Given the description of an element on the screen output the (x, y) to click on. 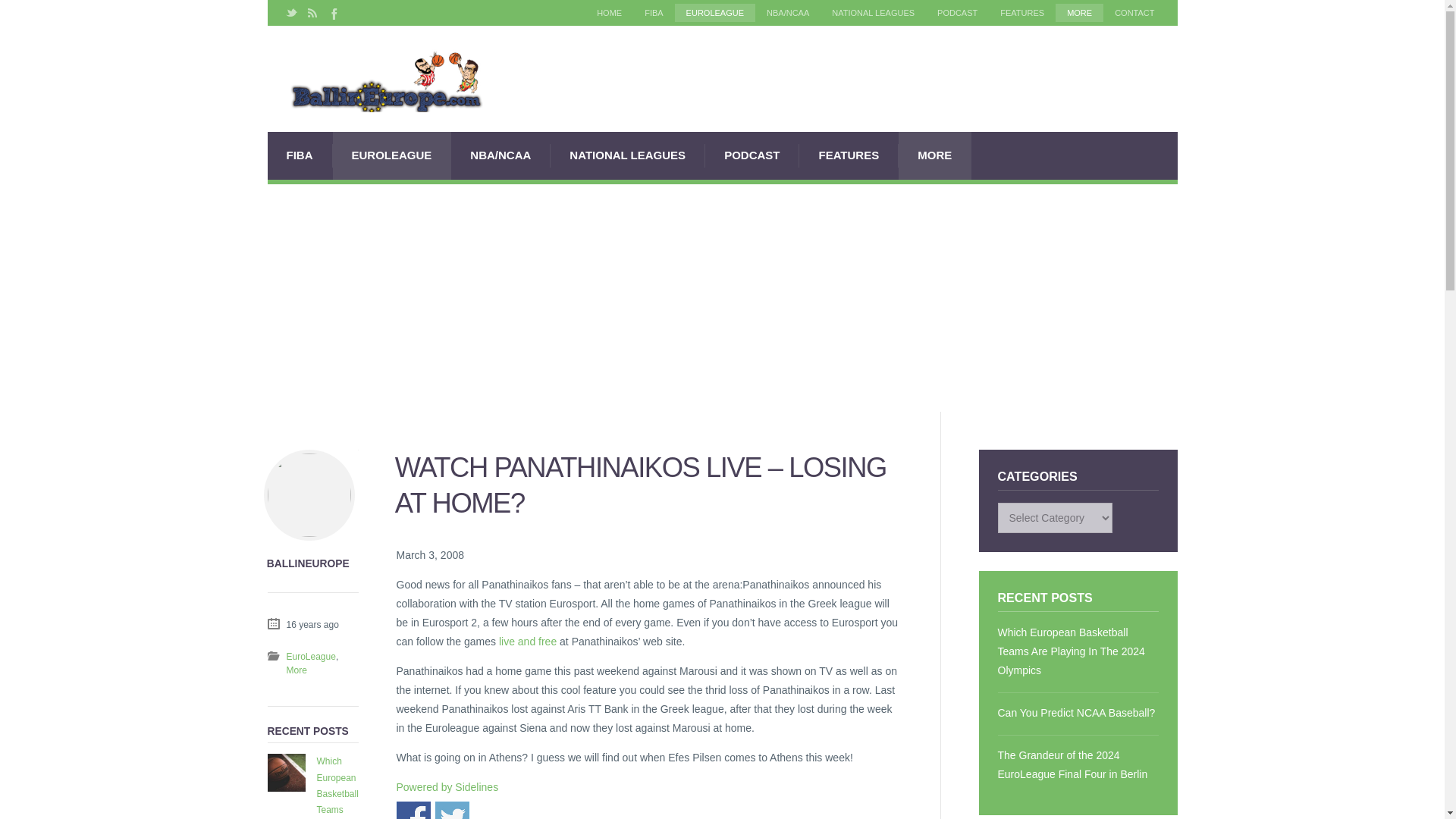
Powered by Sidelines (446, 787)
FIBA (653, 13)
EUROLEAGUE (715, 13)
CONTACT (1134, 13)
Share on Twitter (451, 810)
The Grandeur of the 2024 EuroLeague Final Four in Berlin (1077, 765)
NATIONAL LEAGUES (873, 13)
Share on Facebook (412, 810)
More (296, 669)
Twitter (291, 12)
EuroLeague (300, 655)
FEATURES (1021, 13)
